Given the description of an element on the screen output the (x, y) to click on. 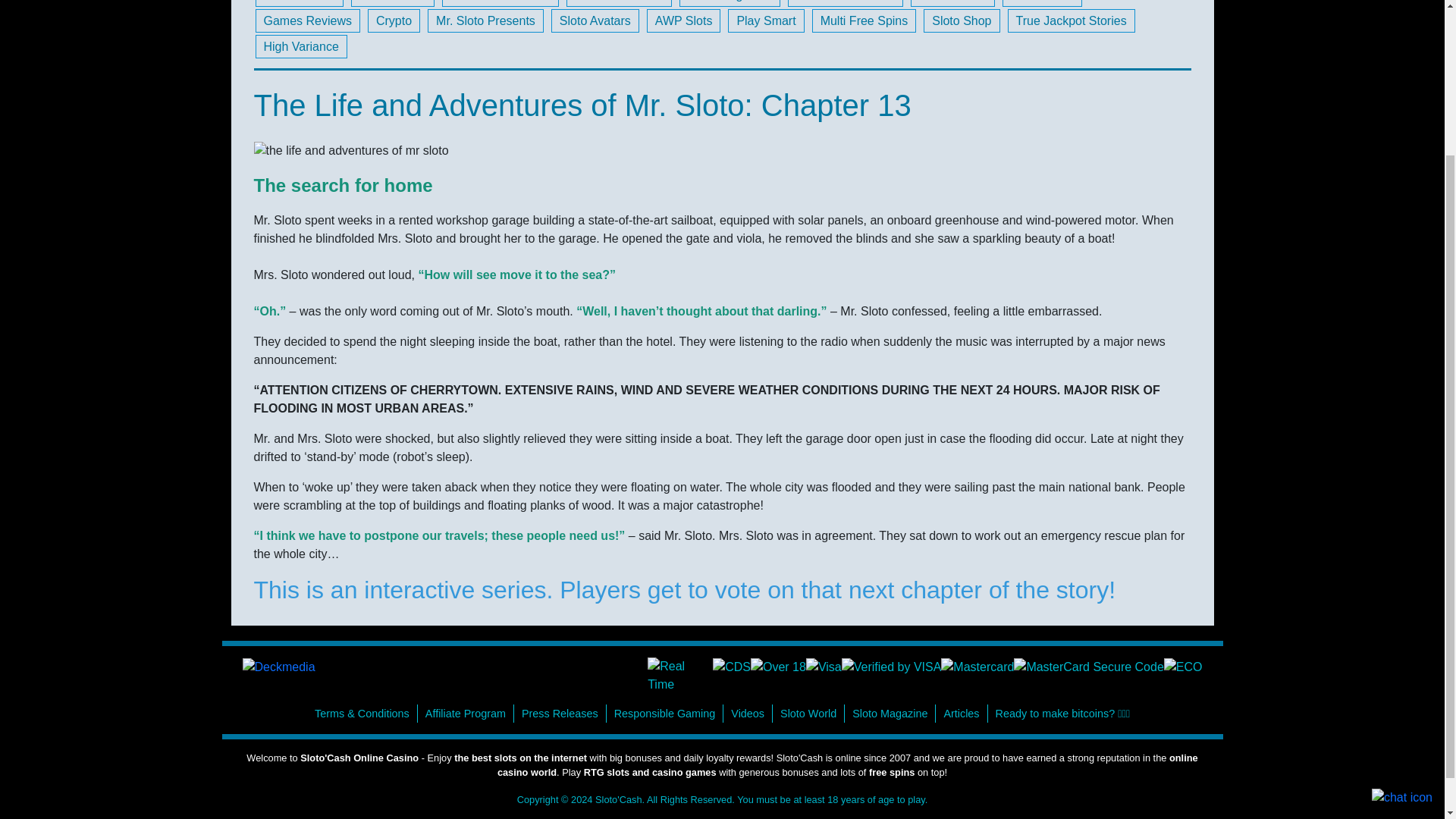
Play Smart (765, 20)
Sloto World (1042, 3)
Mr. and Mrs. Sloto (844, 3)
Sloto Magazine (728, 3)
Games Reviews (306, 20)
AWP Slots (683, 20)
New Games (391, 3)
Sloto School (953, 3)
Sloto Avatars (595, 20)
Mr. Sloto Presents (485, 20)
